Given the description of an element on the screen output the (x, y) to click on. 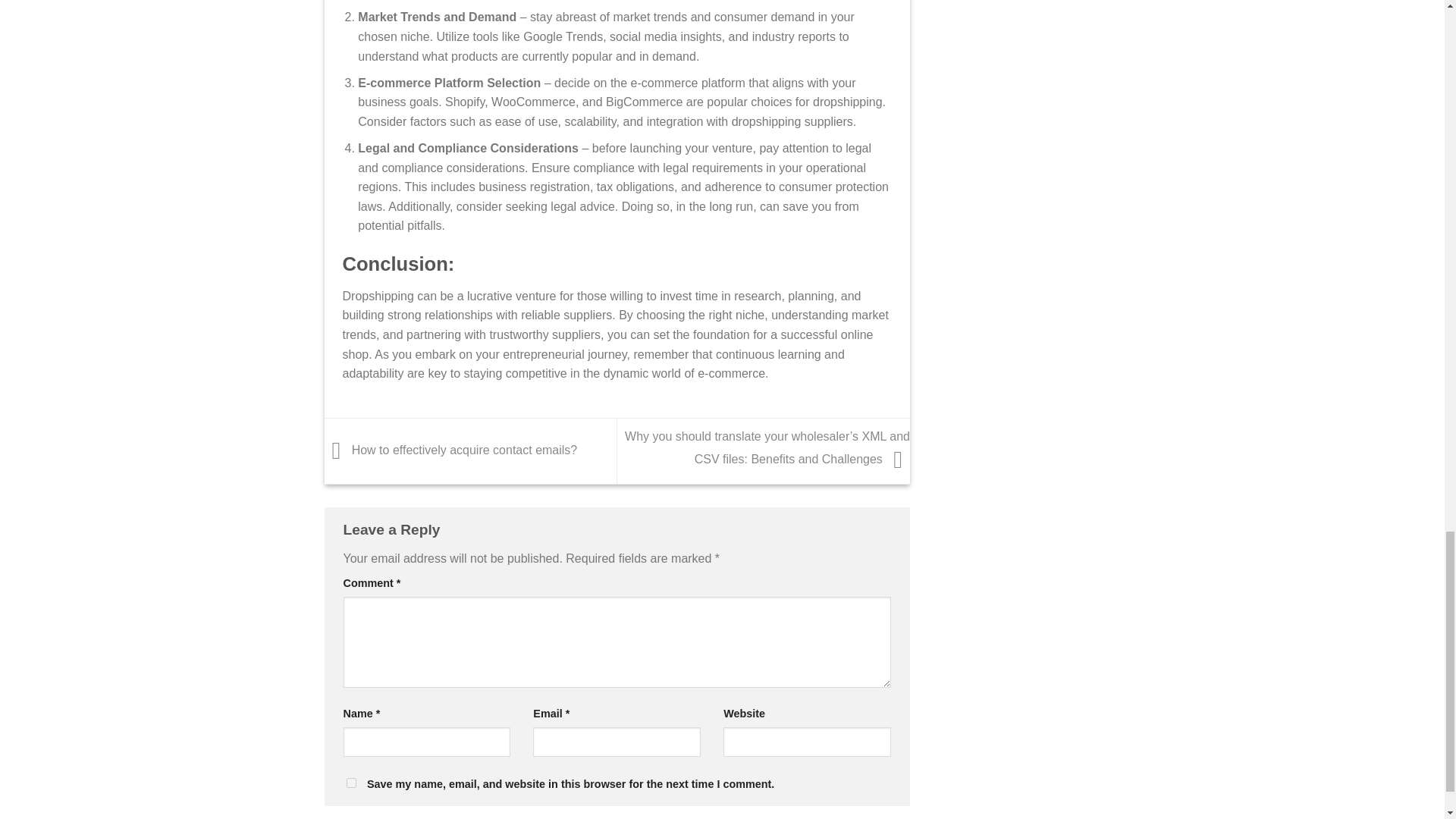
yes (350, 782)
